Given the description of an element on the screen output the (x, y) to click on. 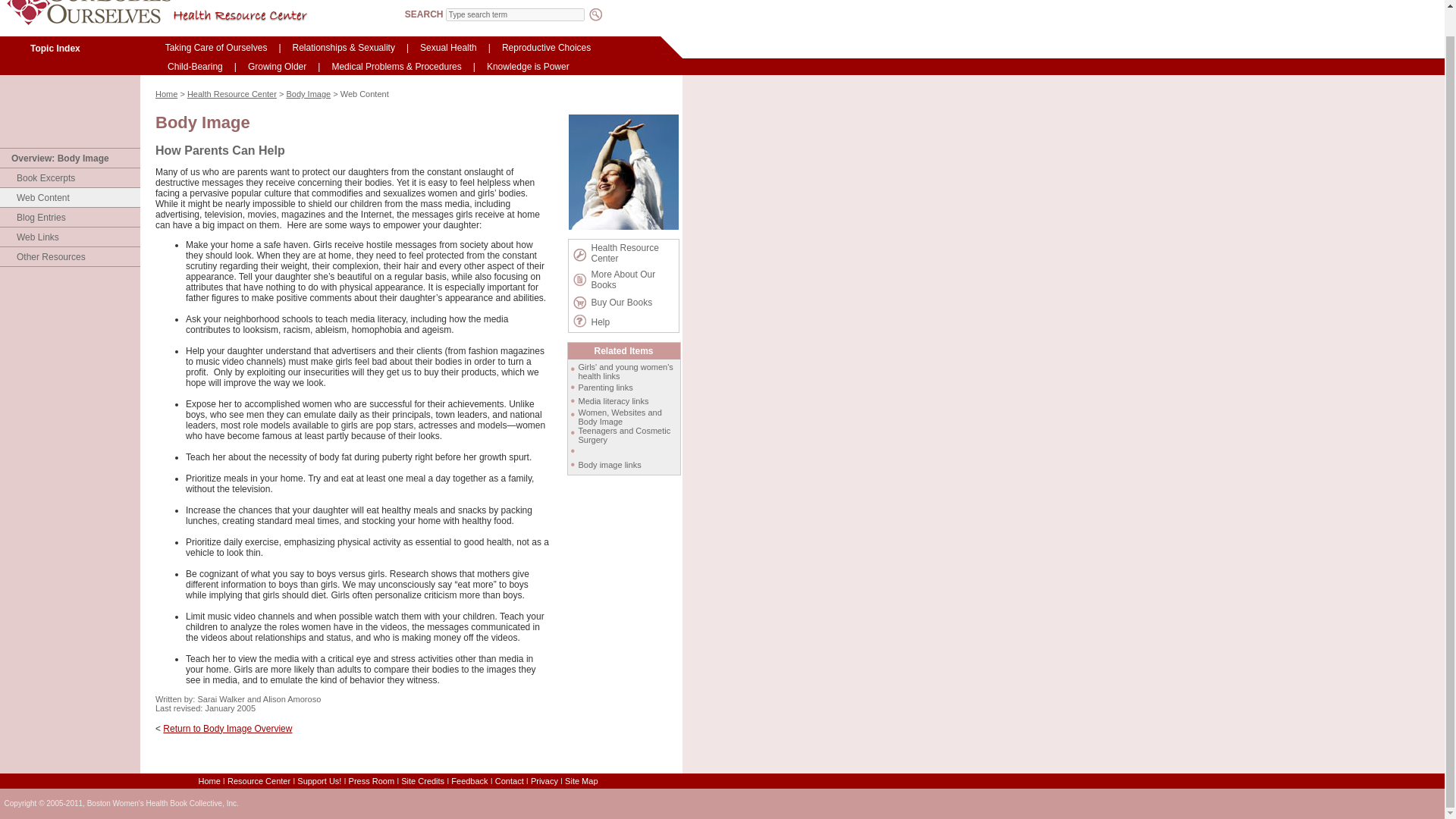
Type search term (515, 14)
Topic Index (55, 48)
Type search term (515, 14)
Reproductive Choices (545, 46)
Growing Older (277, 66)
Sexual Health (448, 46)
Taking Care of Ourselves (215, 46)
Child-Bearing (195, 66)
